Given the description of an element on the screen output the (x, y) to click on. 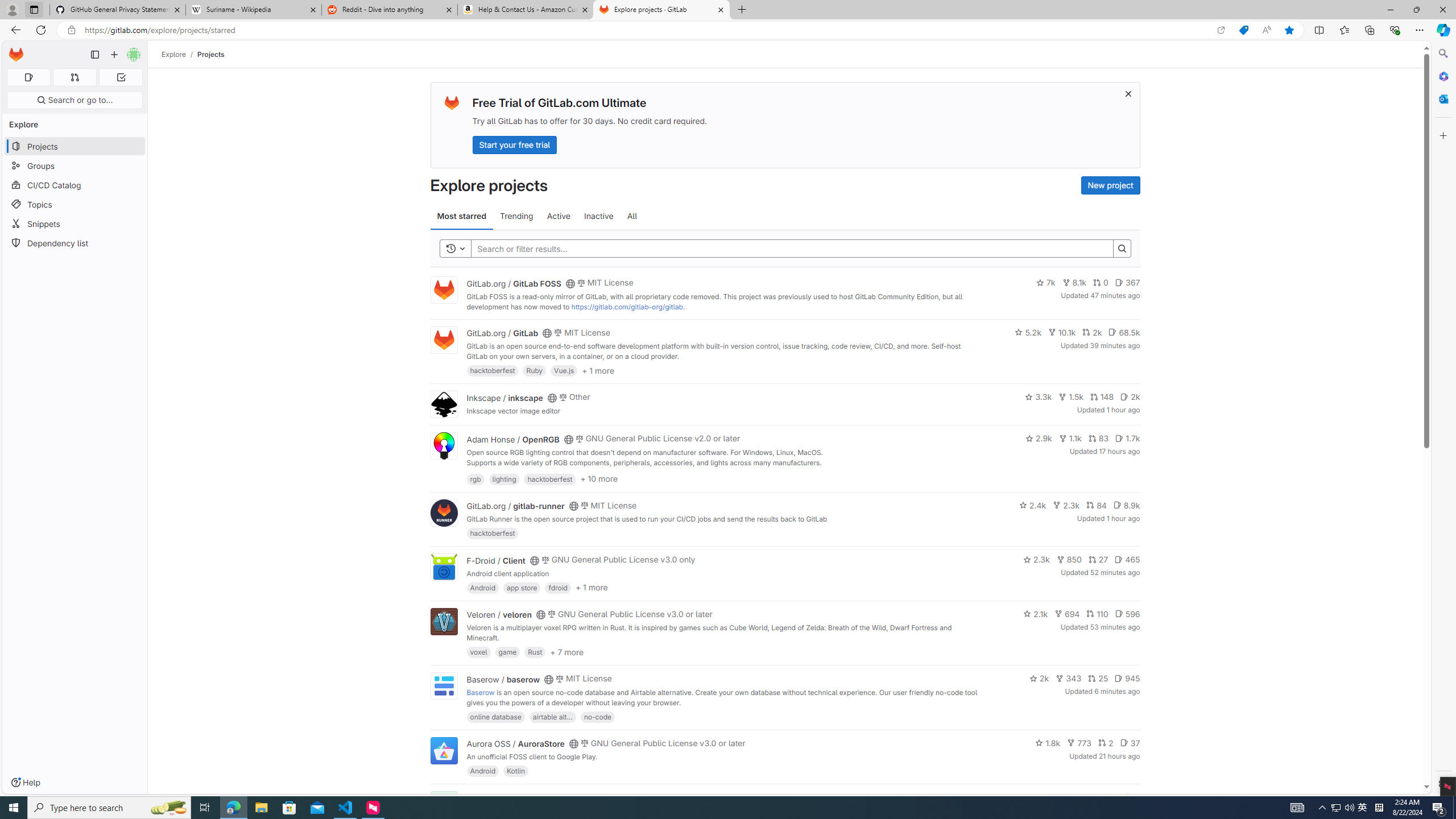
Class: project (443, 750)
2 (1105, 742)
Projects (211, 53)
850 (1068, 559)
Topics (74, 203)
game (507, 651)
Toggle history (455, 248)
Class: s16 (568, 798)
Start your free trial (514, 144)
